Given the description of an element on the screen output the (x, y) to click on. 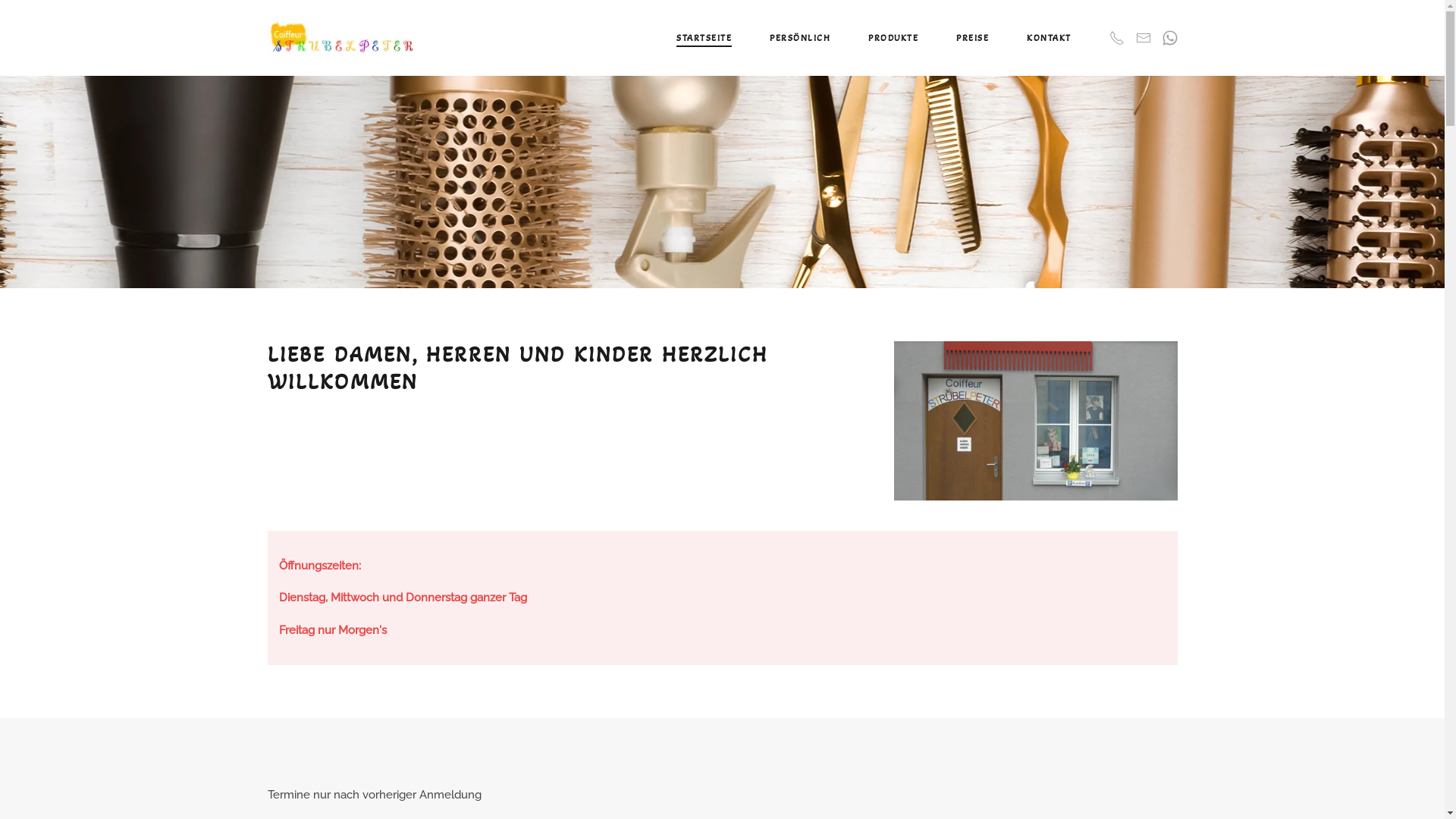
PREISE Element type: text (972, 37)
KONTAKT Element type: text (1048, 37)
STARTSEITE Element type: text (703, 37)
PRODUKTE Element type: text (893, 37)
